Given the description of an element on the screen output the (x, y) to click on. 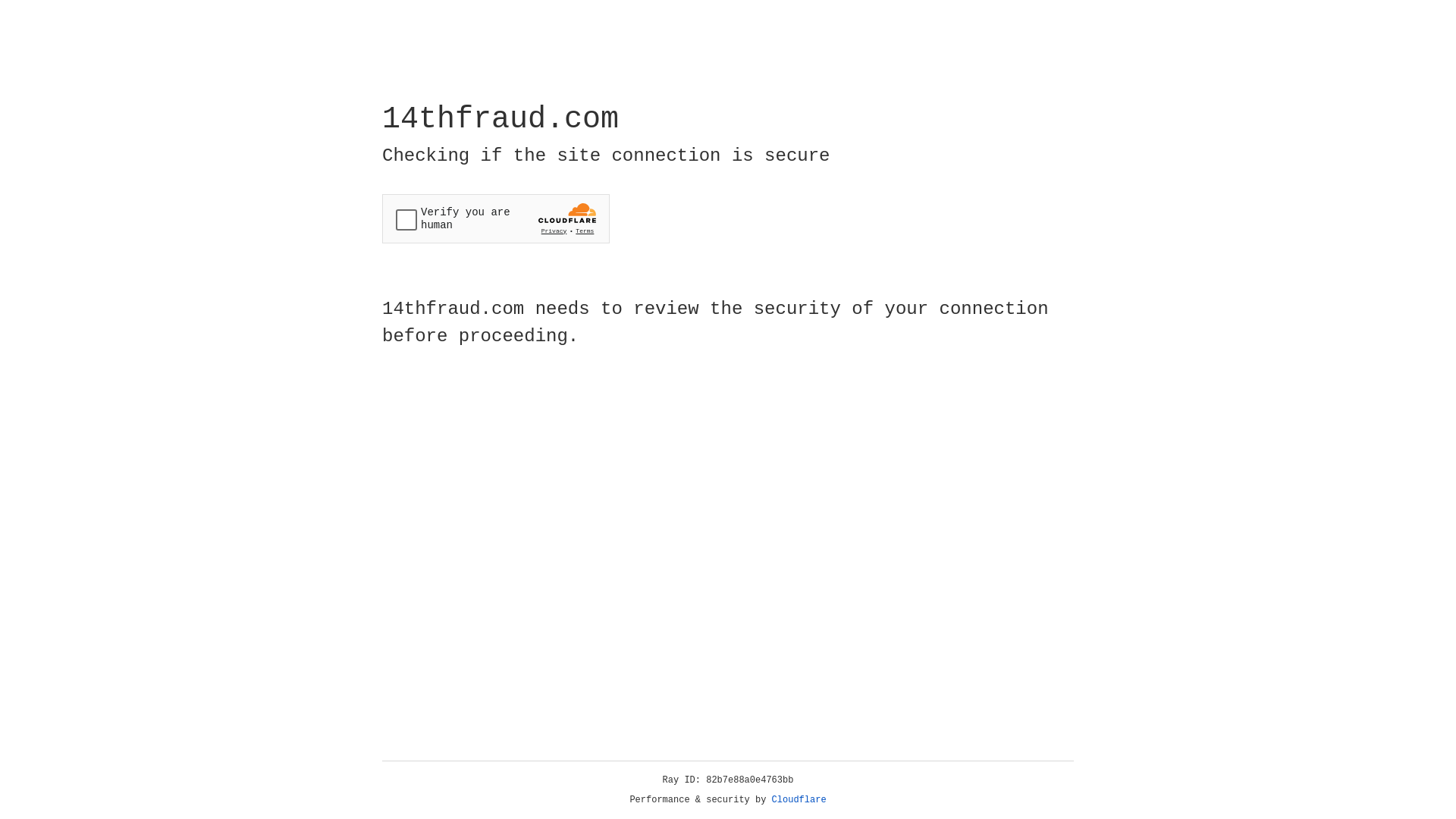
Widget containing a Cloudflare security challenge Element type: hover (495, 218)
Cloudflare Element type: text (798, 799)
